Given the description of an element on the screen output the (x, y) to click on. 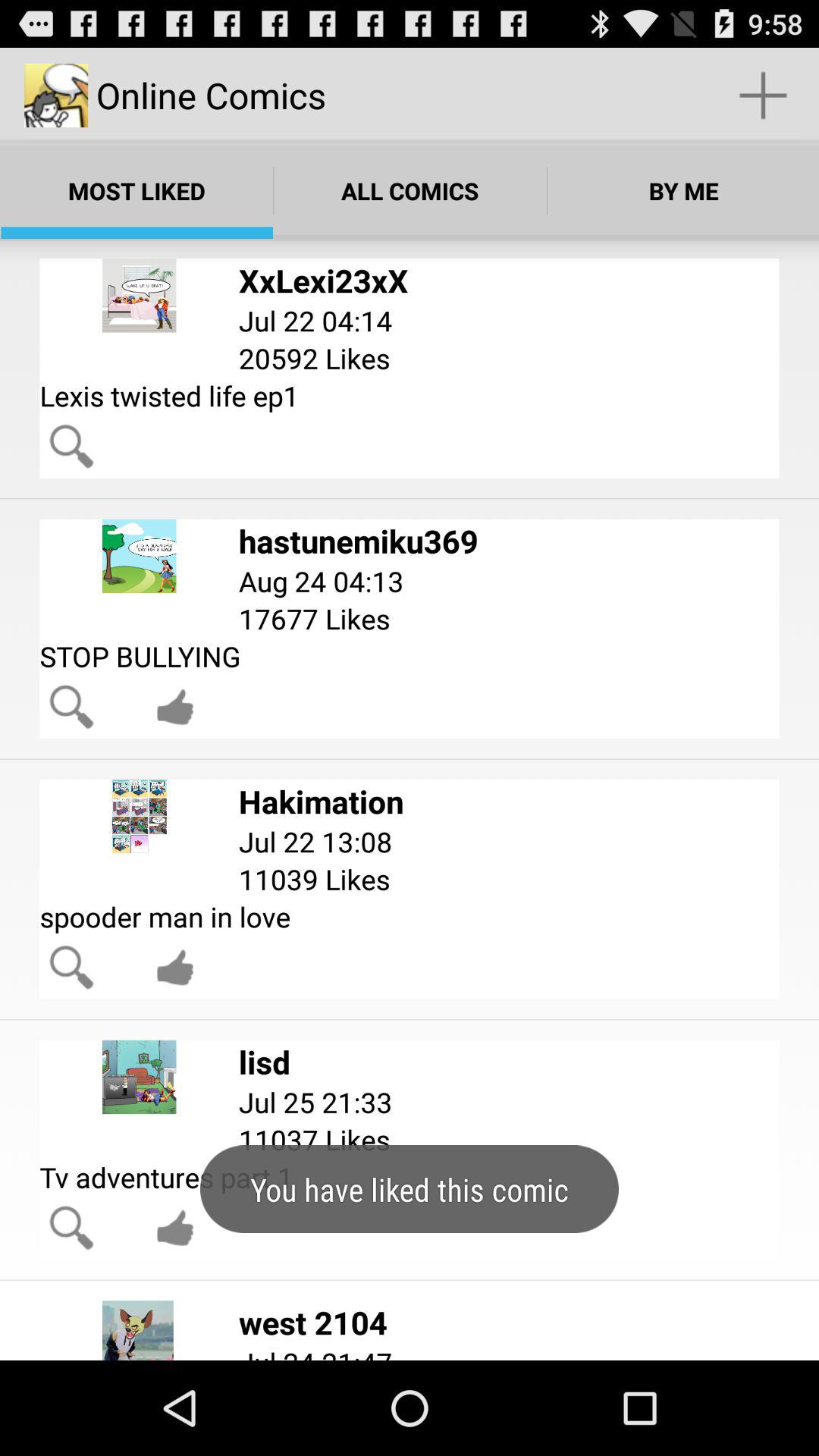
search for comic (71, 706)
